Given the description of an element on the screen output the (x, y) to click on. 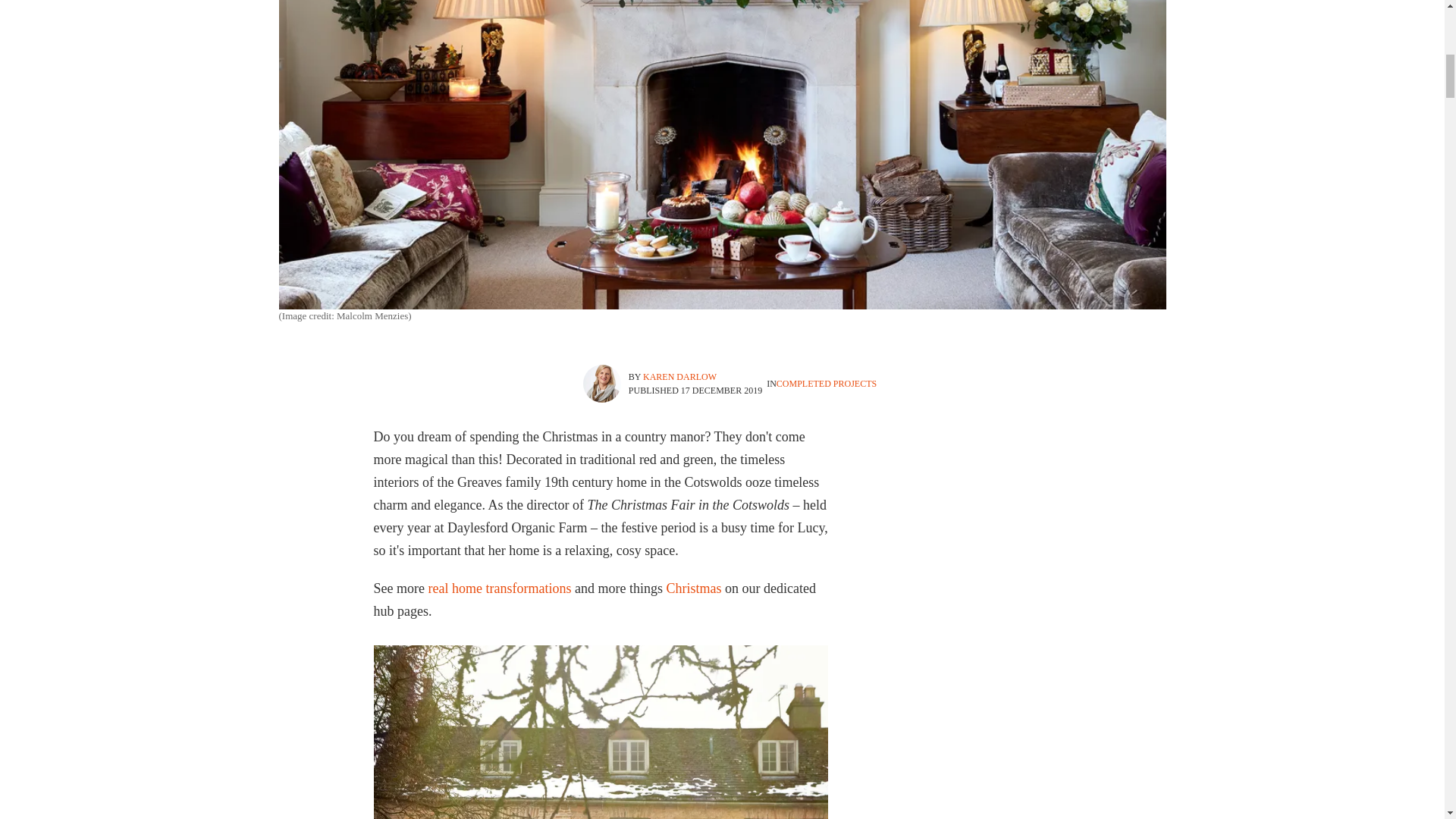
Advertisement (1044, 520)
COMPLETED PROJECTS (826, 383)
KAREN DARLOW (679, 376)
real home transformations (499, 588)
